Given the description of an element on the screen output the (x, y) to click on. 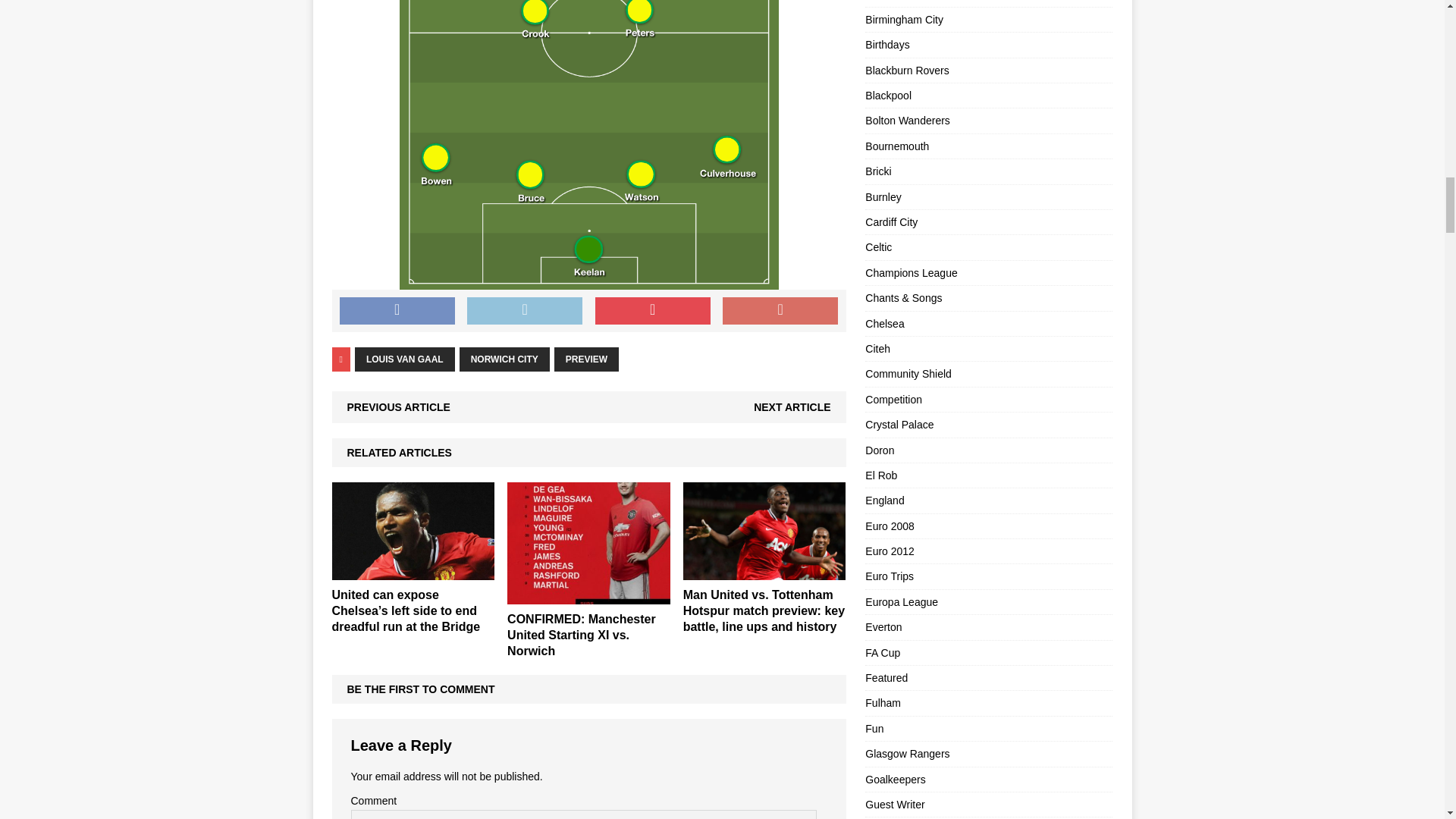
Tweet This Post (524, 310)
Pin This Post (652, 310)
Share on Facebook (396, 310)
